Given the description of an element on the screen output the (x, y) to click on. 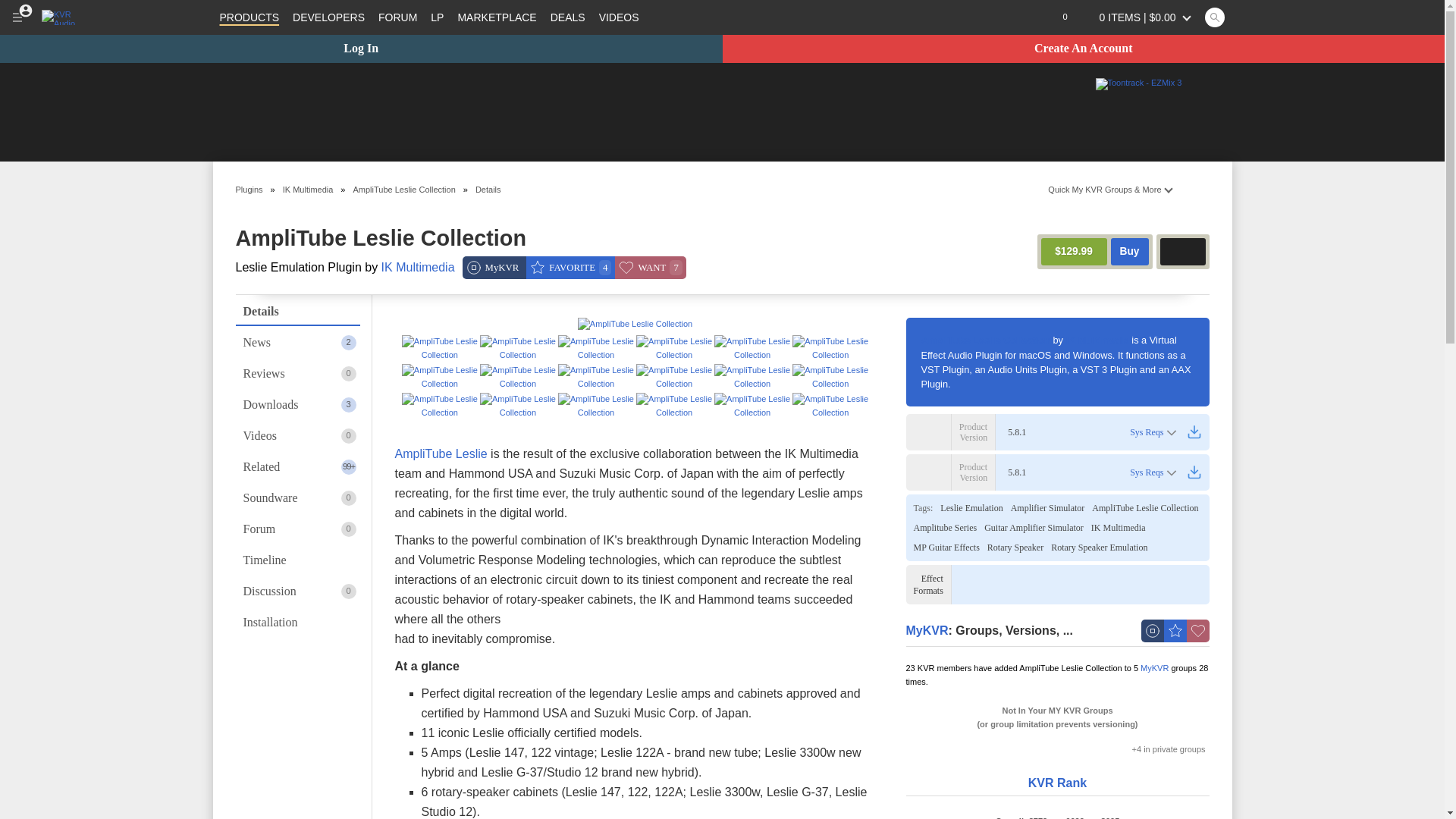
Forum Latest Posts (436, 17)
Cart (1137, 17)
Plugins and Products Database (248, 17)
Marketplace (496, 17)
Toontrack - EZMix 3 (1137, 83)
Forum (397, 17)
Share This (1195, 189)
